Given the description of an element on the screen output the (x, y) to click on. 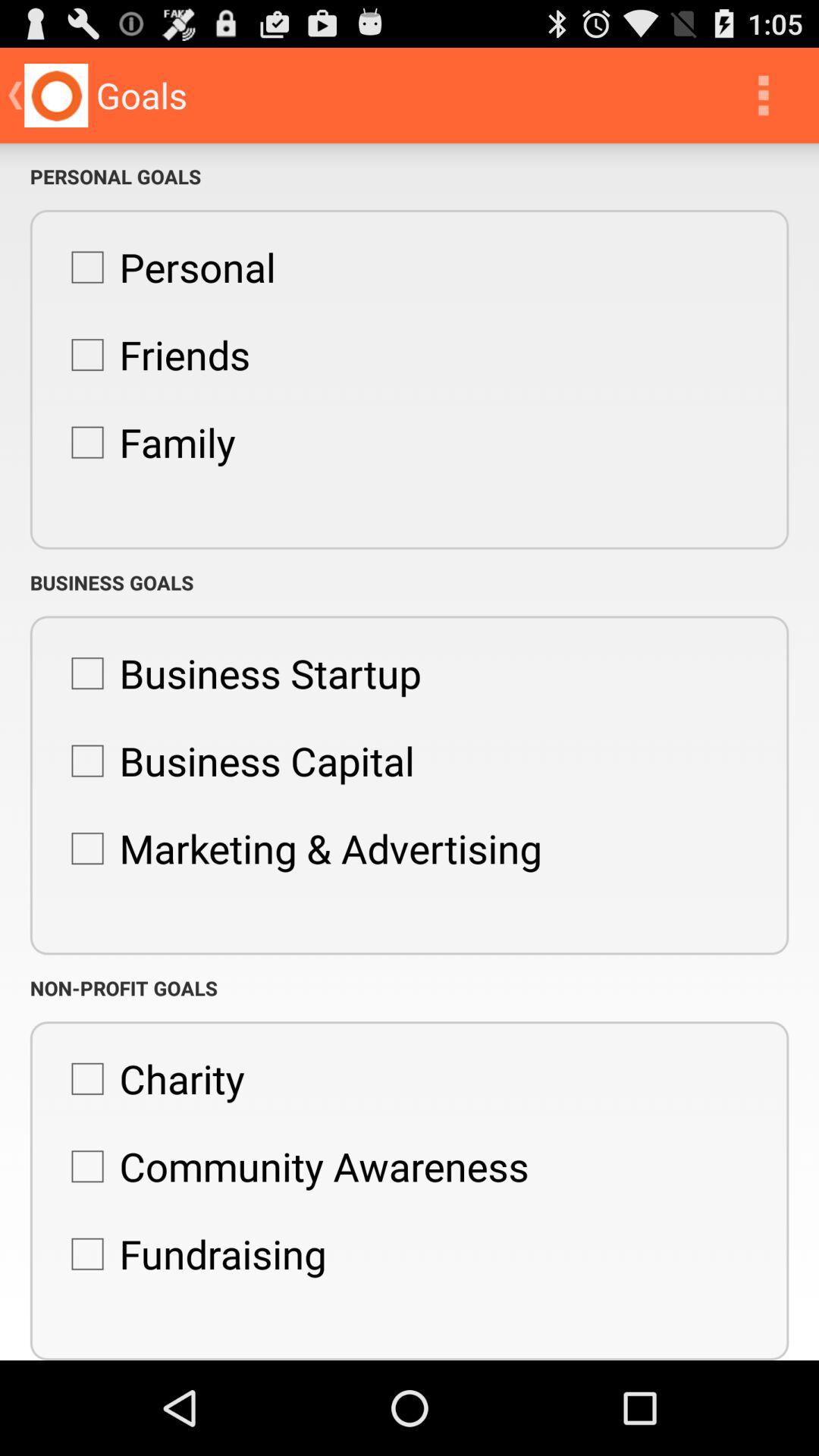
turn off the icon above business capital (238, 673)
